Given the description of an element on the screen output the (x, y) to click on. 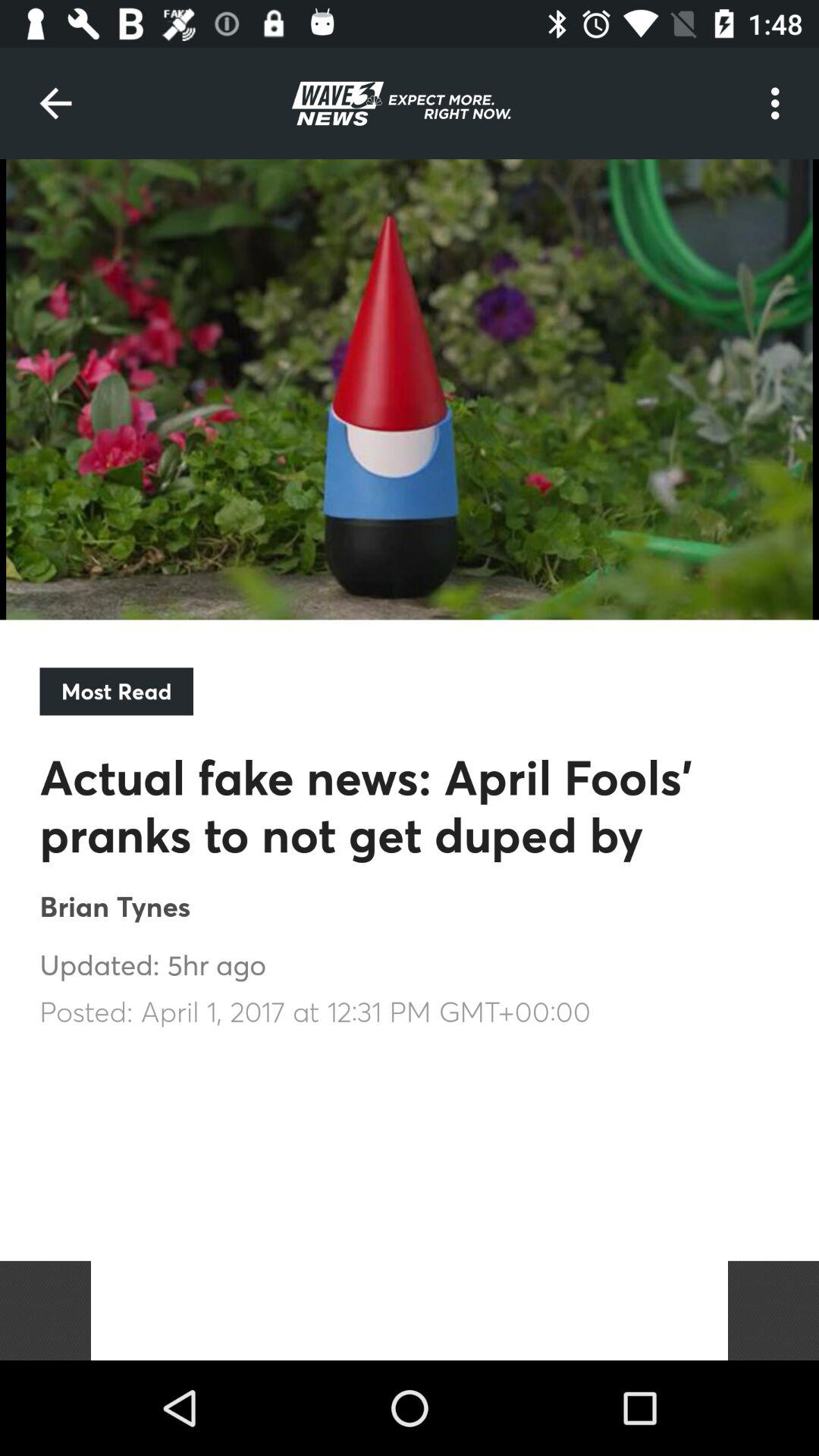
launch most read on the left (116, 691)
